Given the description of an element on the screen output the (x, y) to click on. 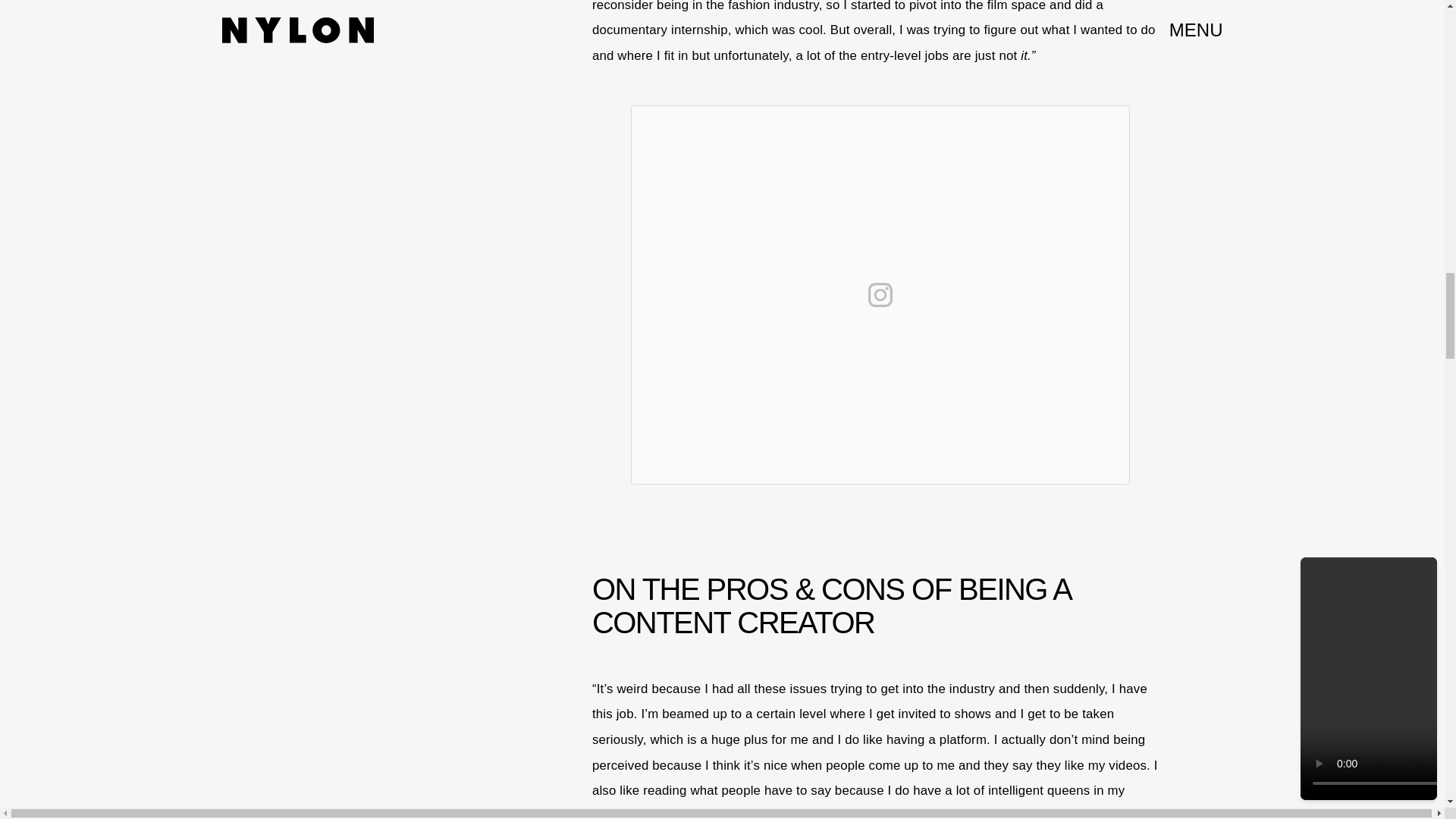
View on Instagram (879, 294)
